Given the description of an element on the screen output the (x, y) to click on. 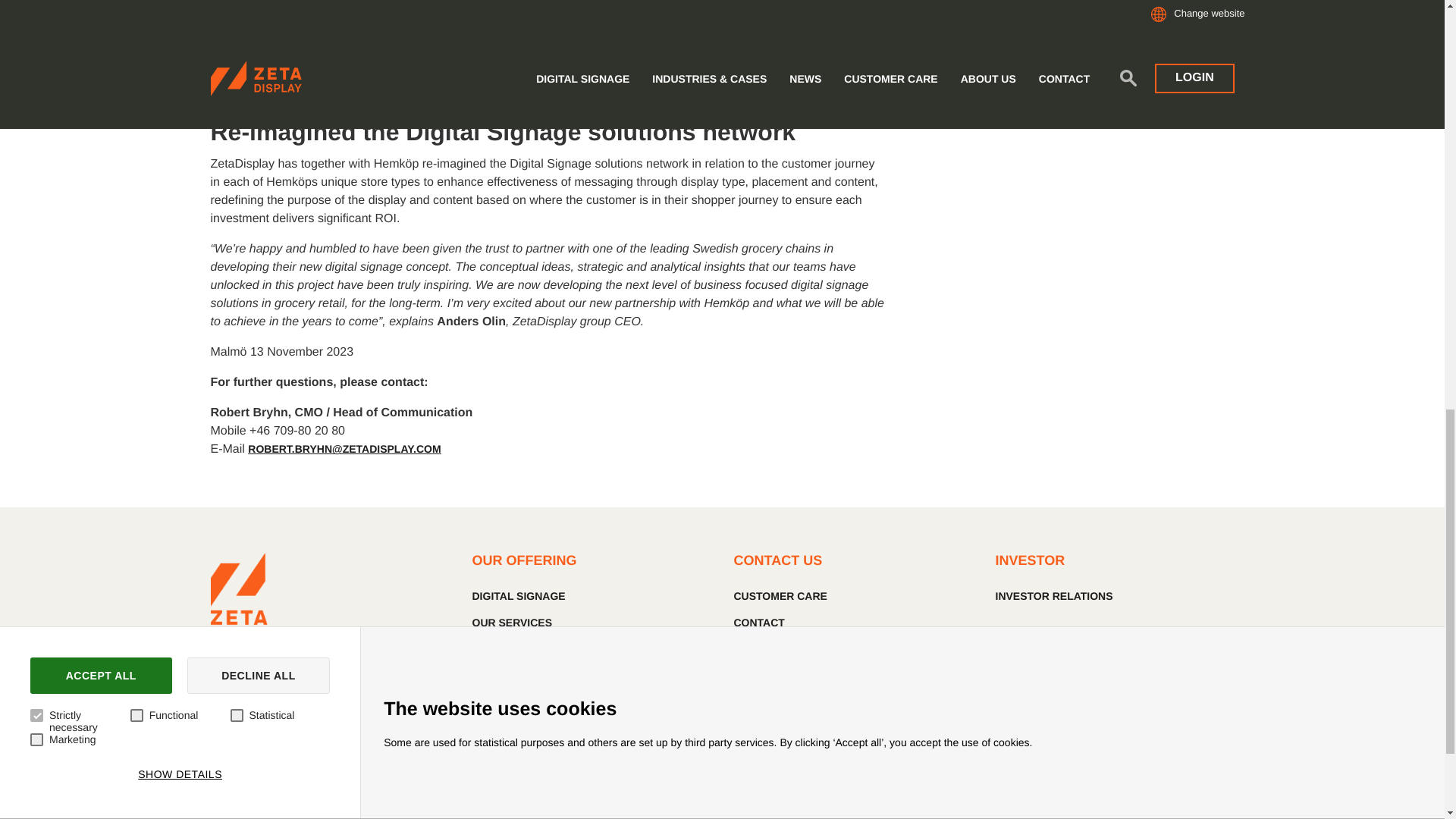
Cloudflare (462, 48)
.hubspot.com (1331, 8)
Cloudflare (462, 98)
Session (983, 48)
.hsforms.com (1331, 48)
Pending (636, 8)
Session (983, 8)
Pending (636, 48)
Cloudflare (462, 8)
